Given the description of an element on the screen output the (x, y) to click on. 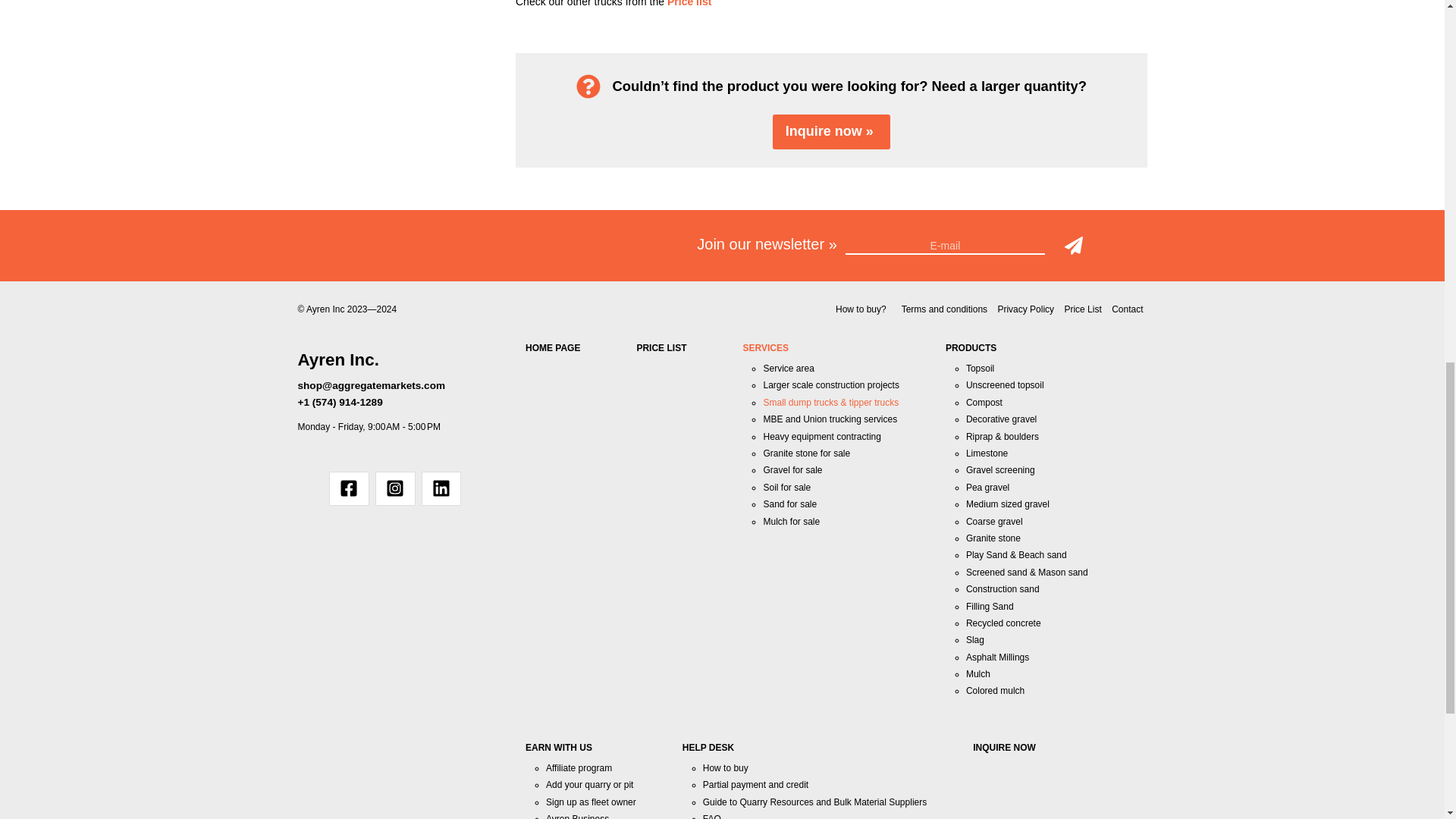
Aggregate Markets Instagram (394, 488)
Aggregate Markets LinkedIn (441, 488)
Aggregate Markets Facebook (349, 488)
